Given the description of an element on the screen output the (x, y) to click on. 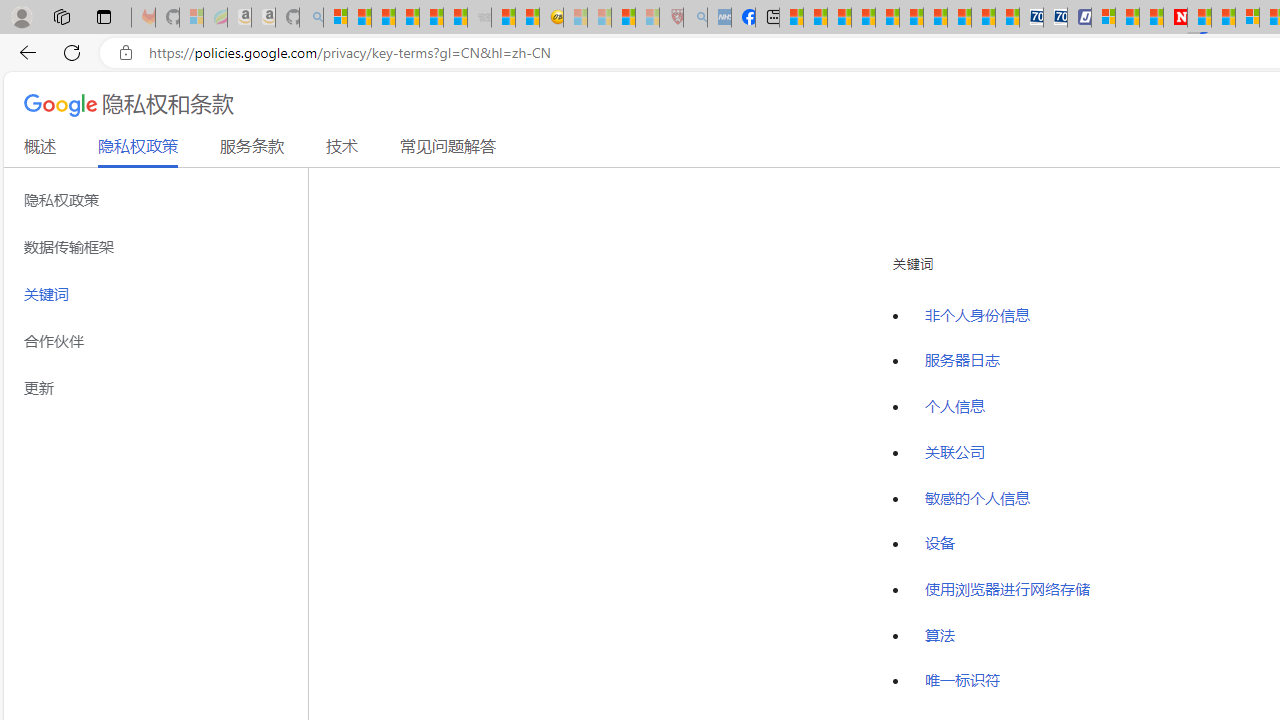
14 Common Myths Debunked By Scientific Facts (1223, 17)
